Given the description of an element on the screen output the (x, y) to click on. 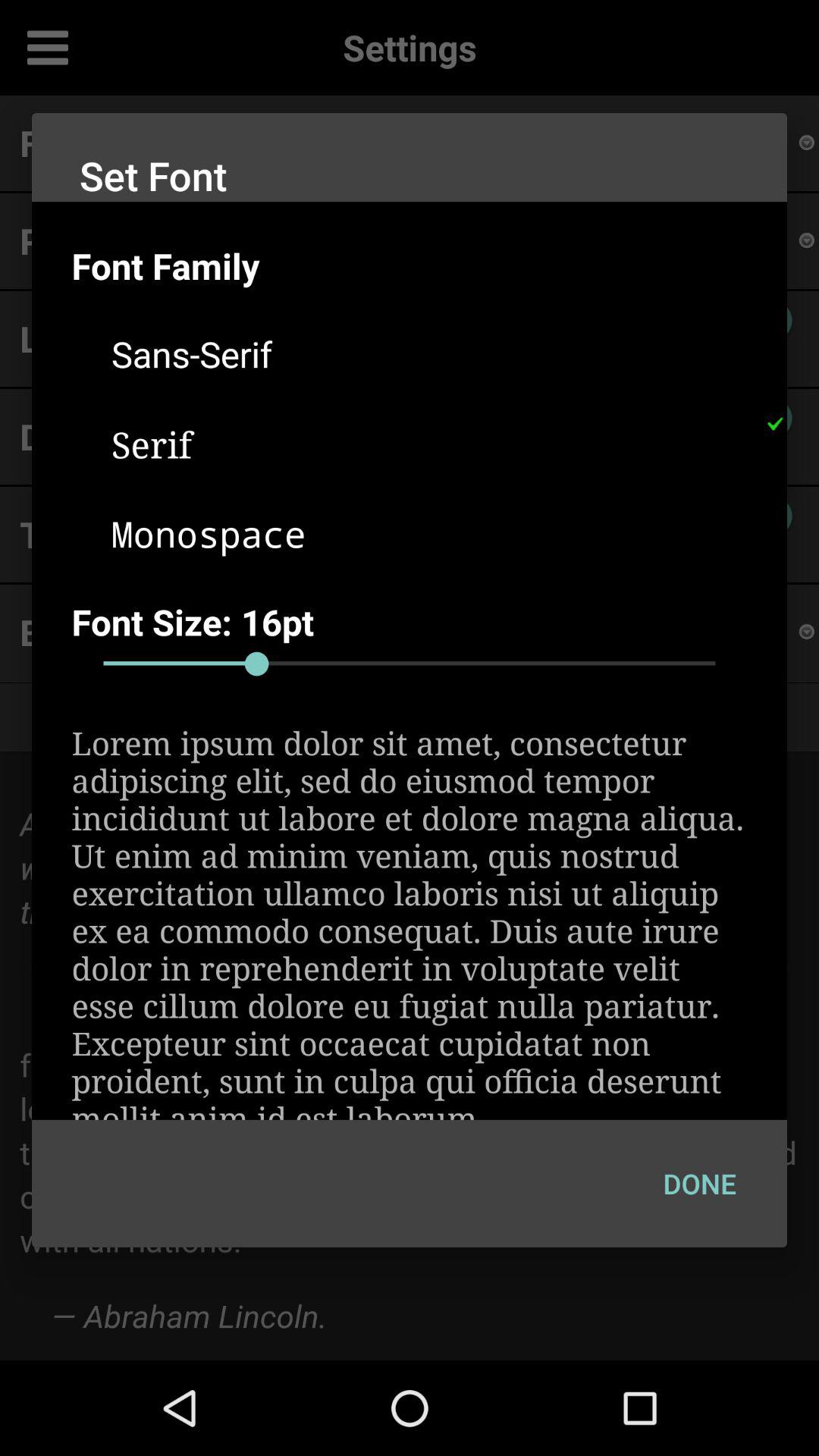
tap item next to the serif icon (774, 423)
